Given the description of an element on the screen output the (x, y) to click on. 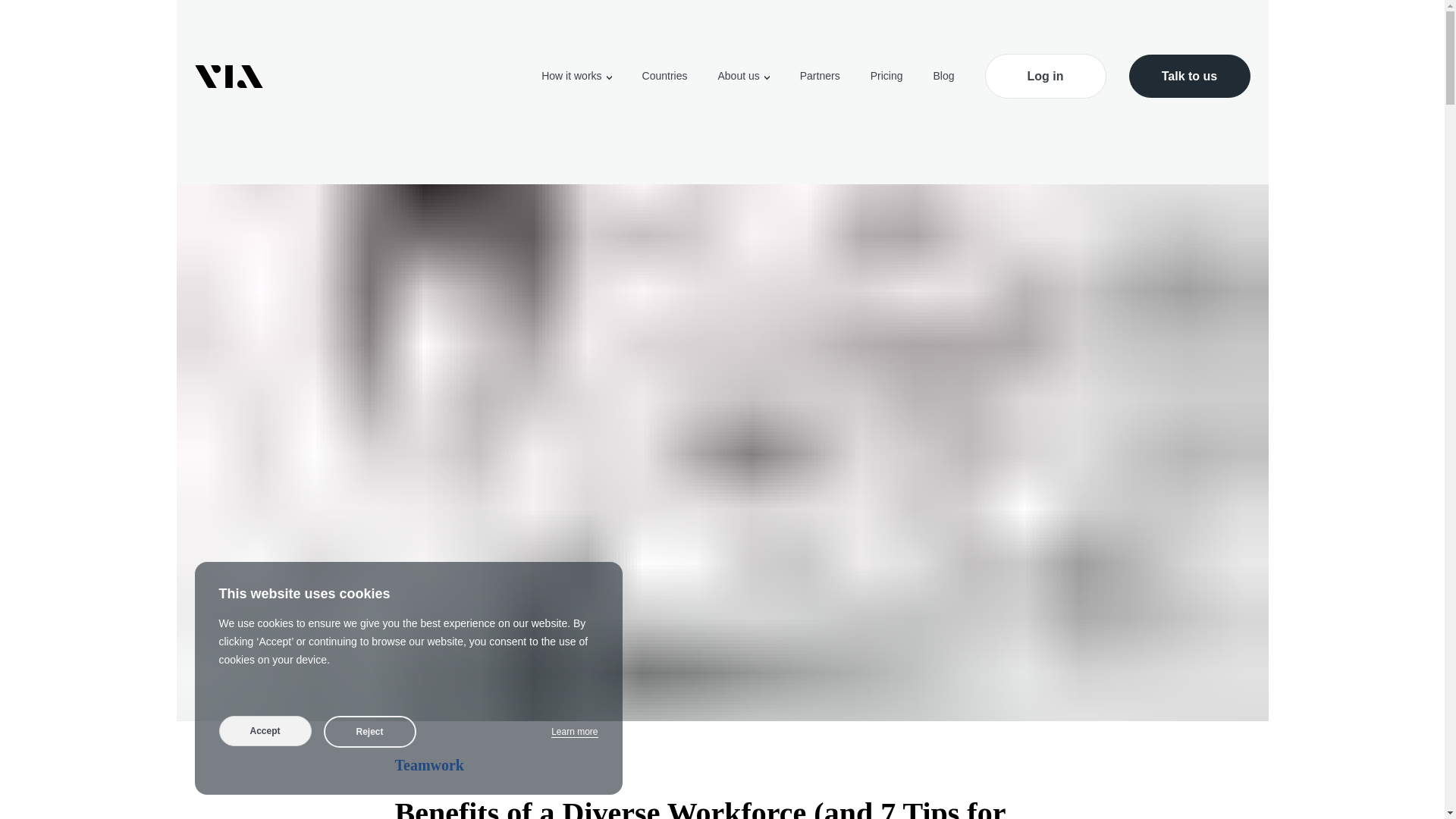
Reject (368, 731)
Talk to us (1188, 75)
Accept (264, 730)
Pricing (886, 75)
Blog (943, 75)
Learn more (573, 731)
Partners (819, 75)
Log in (1044, 76)
Countries (664, 75)
